Given the description of an element on the screen output the (x, y) to click on. 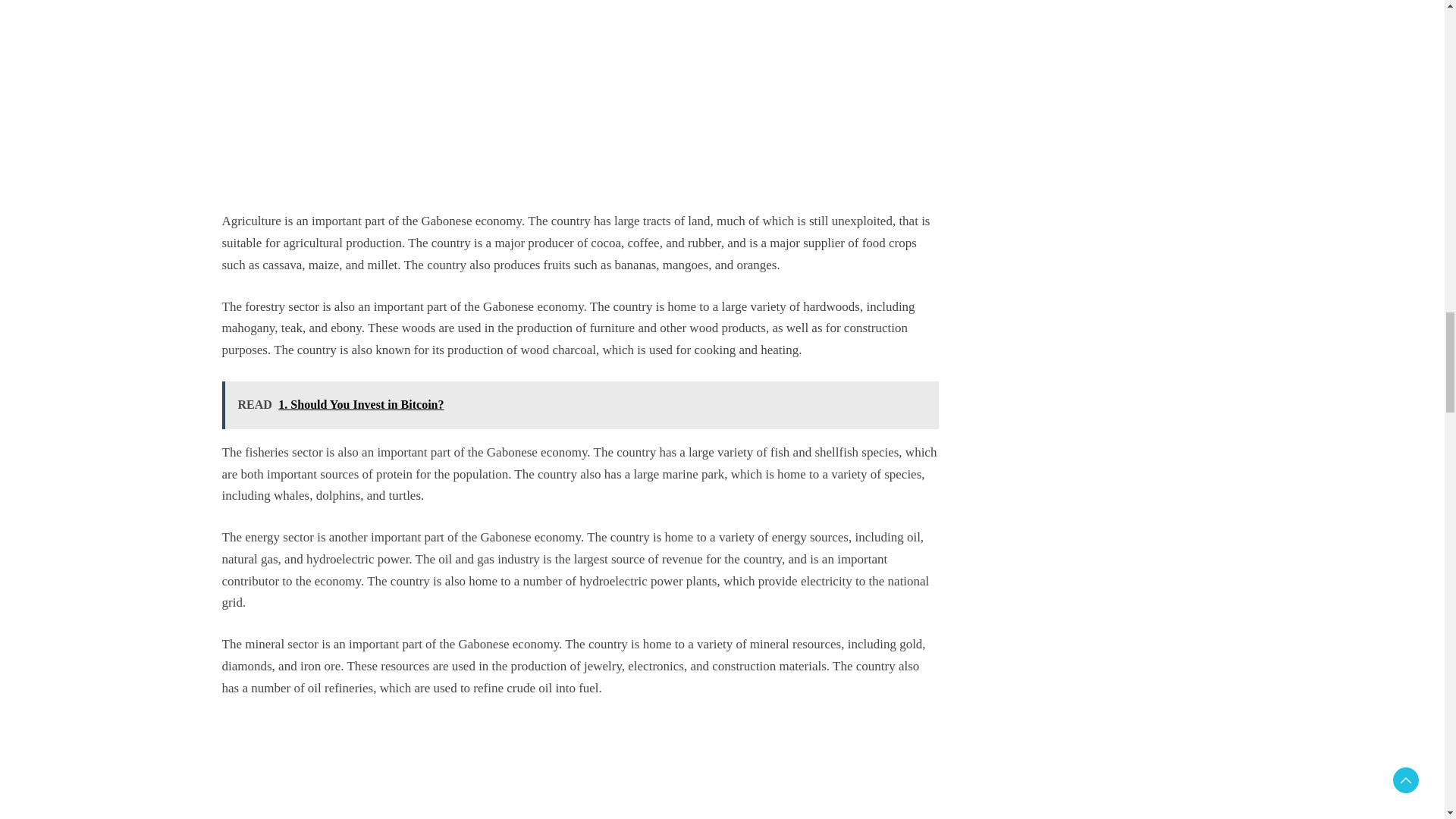
READ  1. Should You Invest in Bitcoin? (579, 405)
